Given the description of an element on the screen output the (x, y) to click on. 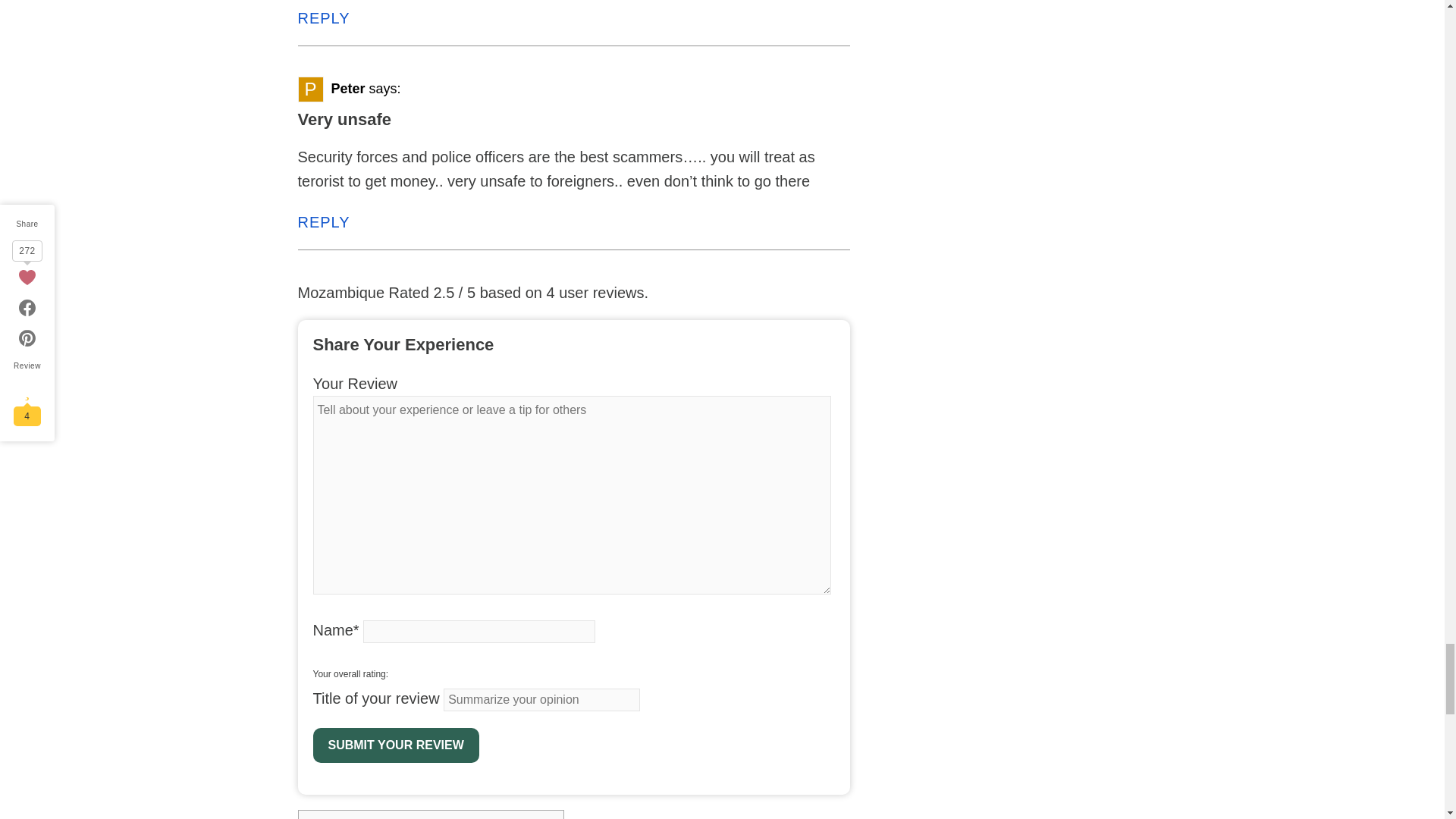
Submit Your Review (396, 745)
